Given the description of an element on the screen output the (x, y) to click on. 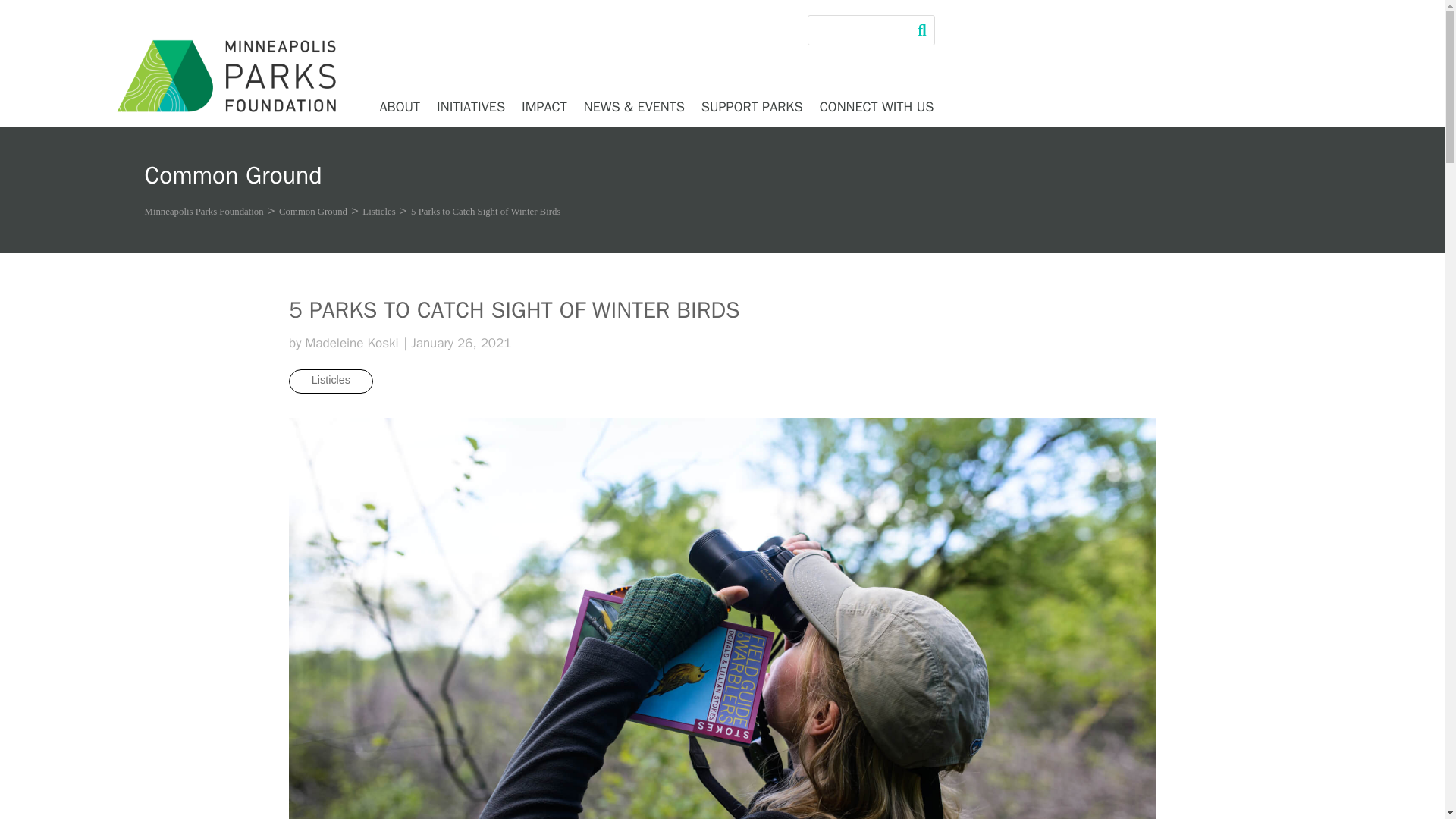
SUPPORT PARKS (752, 106)
CONNECT WITH US (876, 106)
Common Ground (313, 215)
IMPACT (544, 106)
Search (21, 14)
Minneapolis Parks Foundation (203, 215)
INITIATIVES (470, 106)
ABOUT (399, 106)
